Given the description of an element on the screen output the (x, y) to click on. 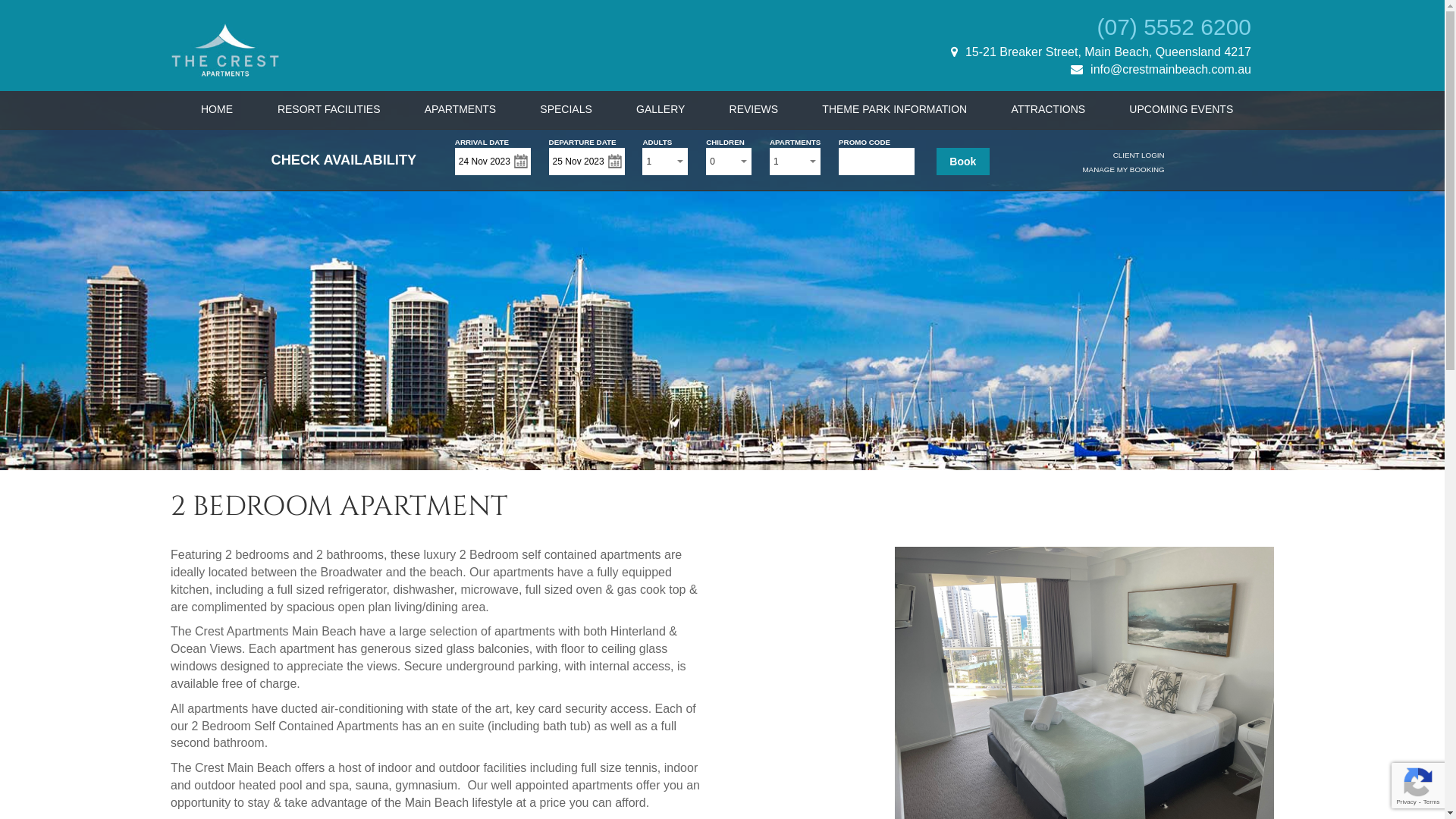
SPECIALS Element type: text (565, 109)
GALLERY Element type: text (660, 109)
UPCOMING EVENTS Element type: text (1181, 109)
APARTMENTS Element type: text (459, 109)
(07) 5552 6200 Element type: text (1173, 26)
info@crestmainbeach.com.au Element type: text (1160, 68)
CLIENT LOGIN Element type: text (1138, 154)
ATTRACTIONS Element type: text (1047, 109)
HOME Element type: text (216, 109)
REVIEWS Element type: text (753, 109)
RESORT FACILITIES Element type: text (328, 109)
THEME PARK INFORMATION Element type: text (894, 109)
MANAGE MY BOOKING Element type: text (1123, 169)
Book Element type: text (962, 161)
15-21 Breaker Street, Main Beach, Queensland 4217 Element type: text (1100, 51)
